Given the description of an element on the screen output the (x, y) to click on. 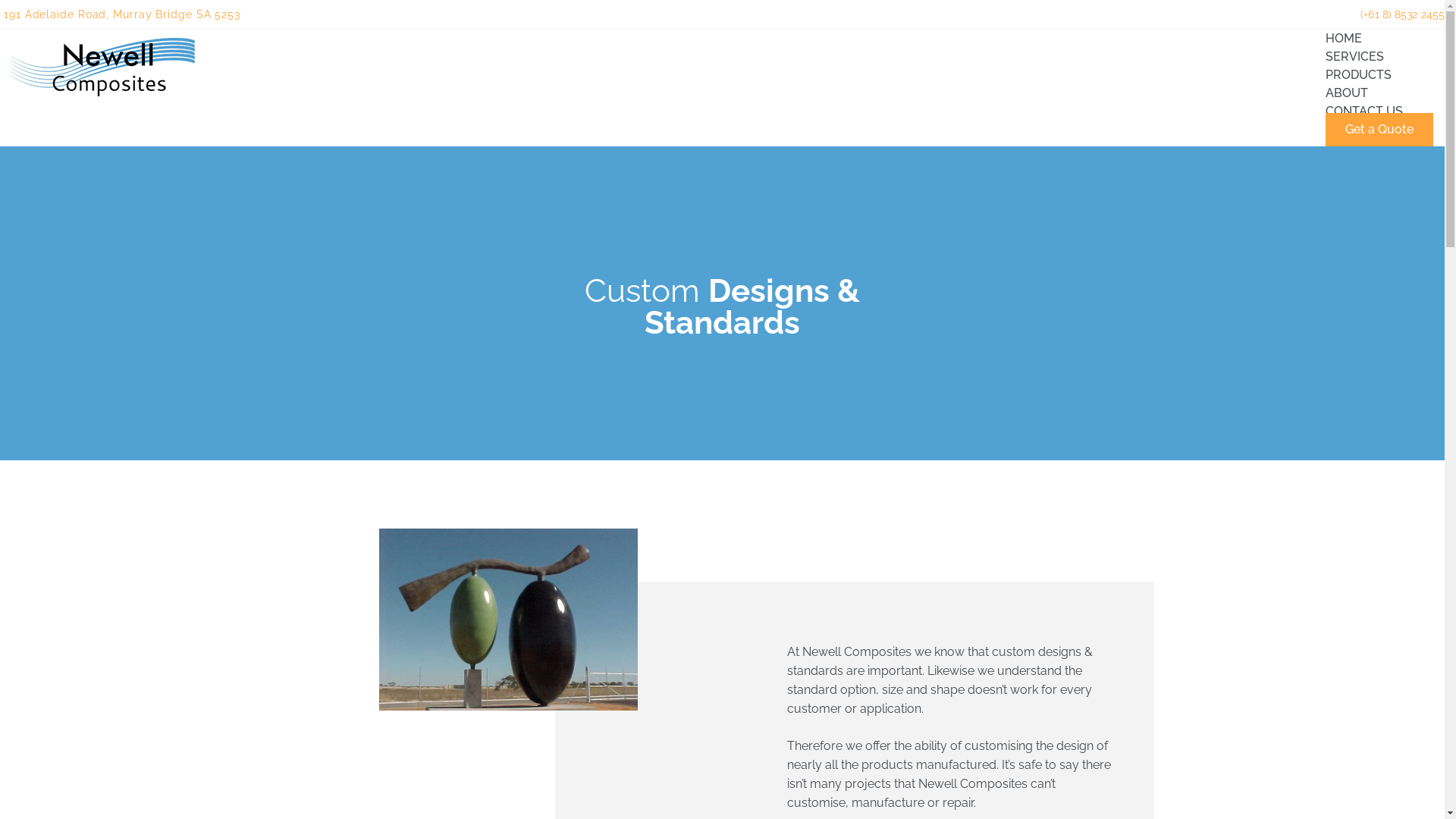
ABOUT Element type: text (1346, 93)
Get a Quote Element type: text (1379, 129)
CONTACT US Element type: text (1363, 111)
PRODUCTS Element type: text (1358, 74)
(+61 8) 8532 2455 Element type: text (1402, 14)
SERVICES Element type: text (1354, 56)
HOME Element type: text (1343, 38)
